Given the description of an element on the screen output the (x, y) to click on. 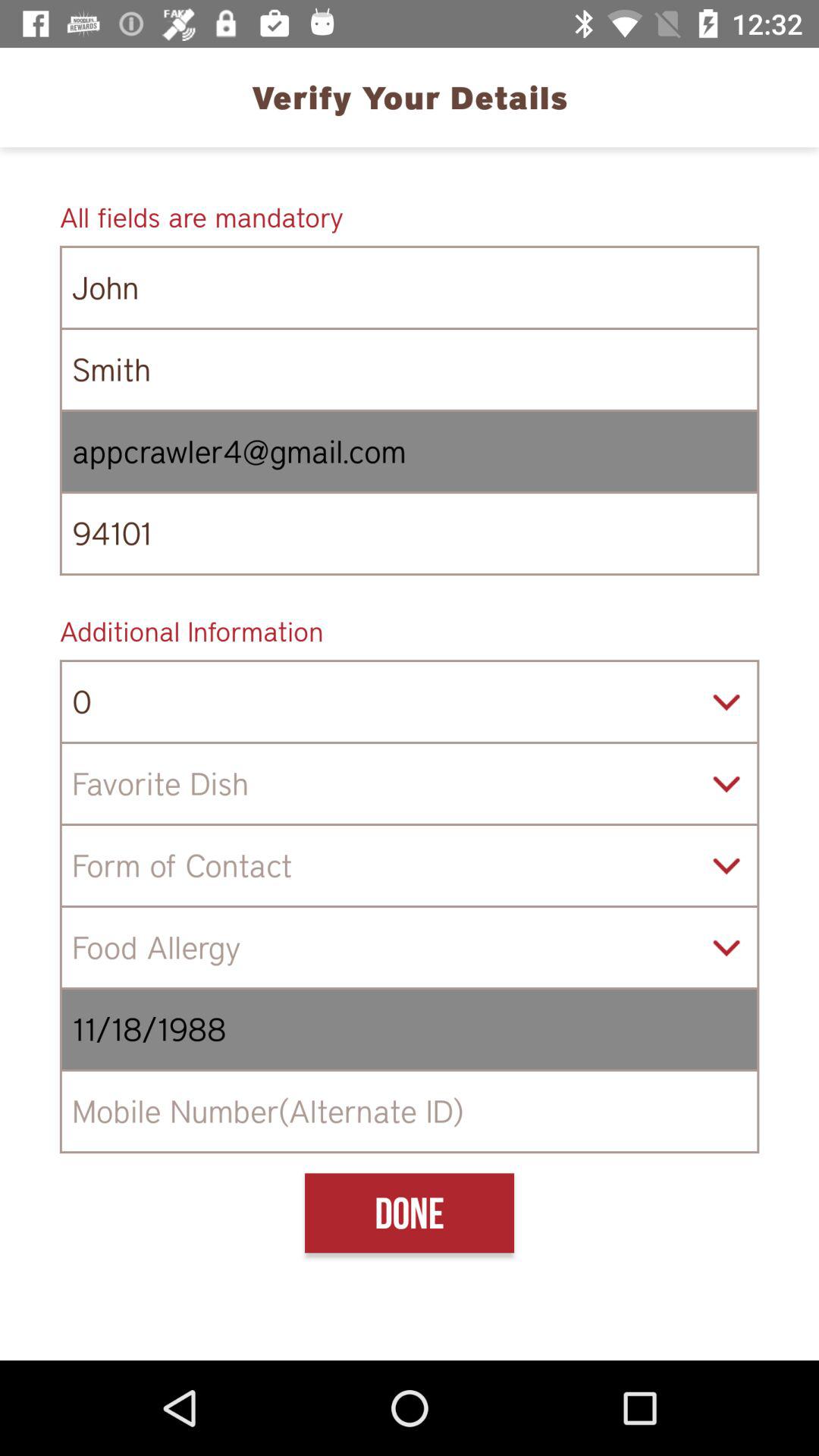
flip to the done item (409, 1212)
